Given the description of an element on the screen output the (x, y) to click on. 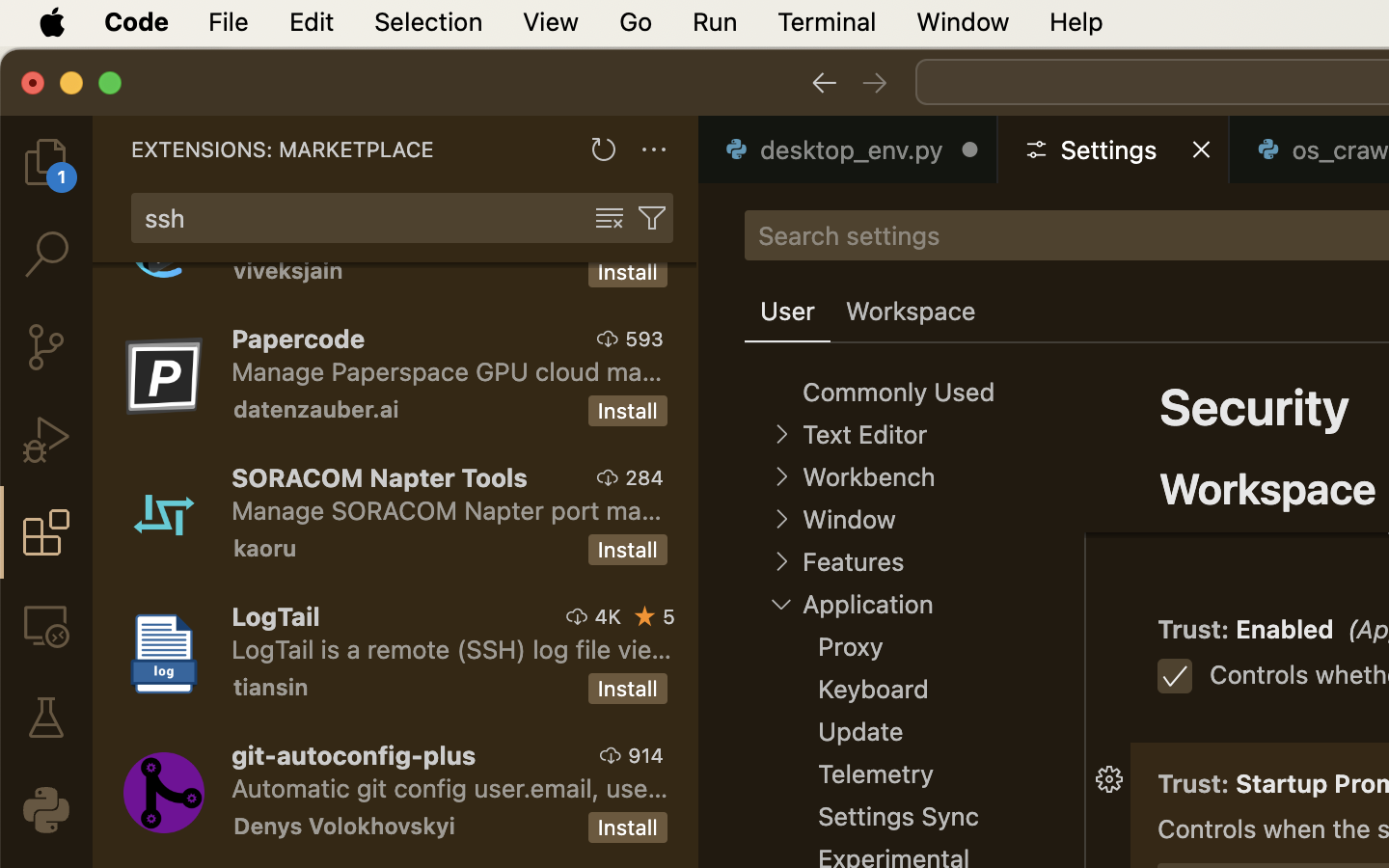
1 Settings   Element type: AXRadioButton (1114, 149)
Settings Sync Element type: AXStaticText (898, 816)
0 Element type: AXRadioButton (910, 311)
Commonly Used Element type: AXStaticText (898, 392)
1  Element type: AXRadioButton (46, 532)
